Given the description of an element on the screen output the (x, y) to click on. 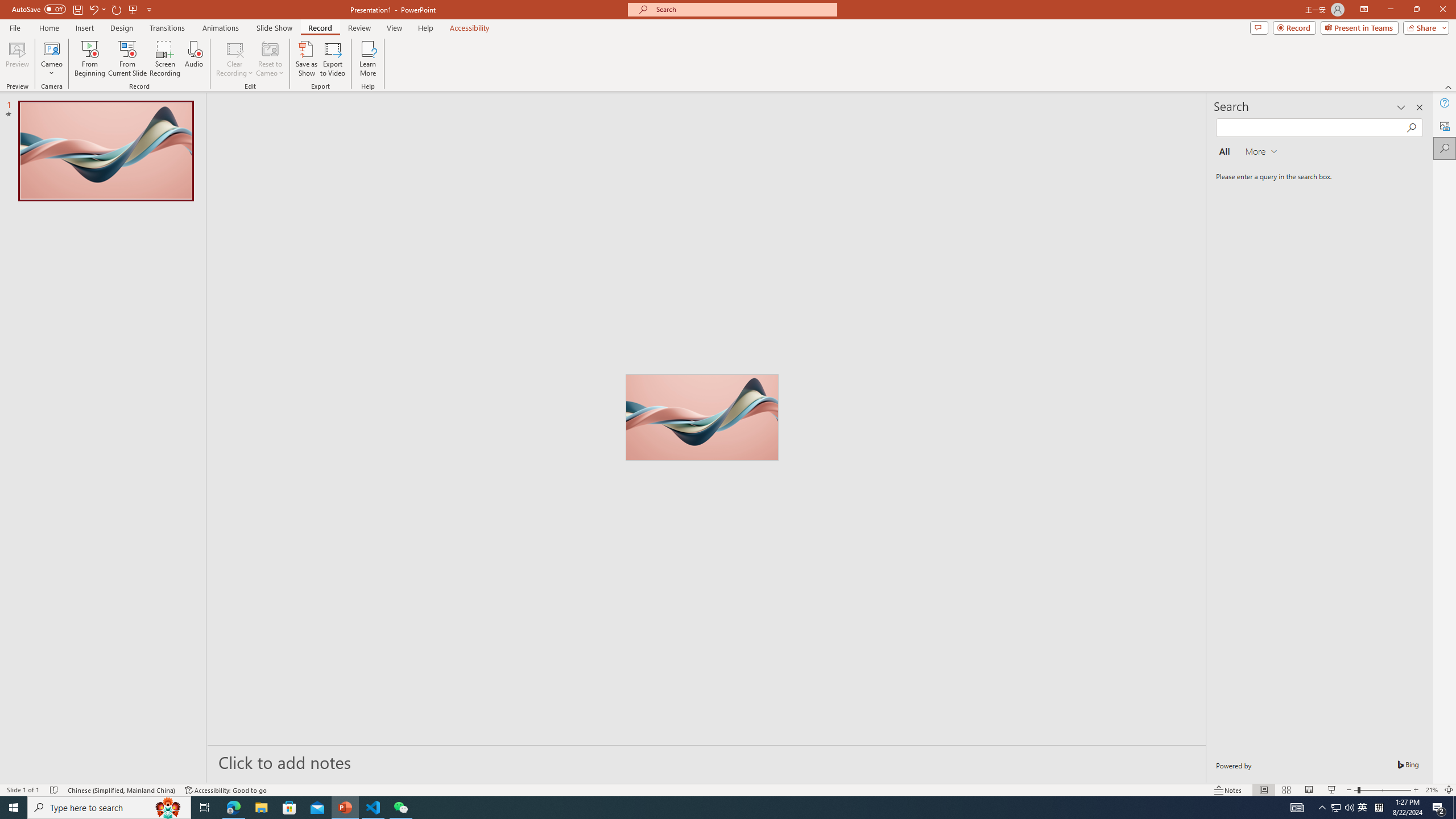
Export to Video (332, 58)
Screen Recording (165, 58)
Wavy 3D art (701, 417)
